Given the description of an element on the screen output the (x, y) to click on. 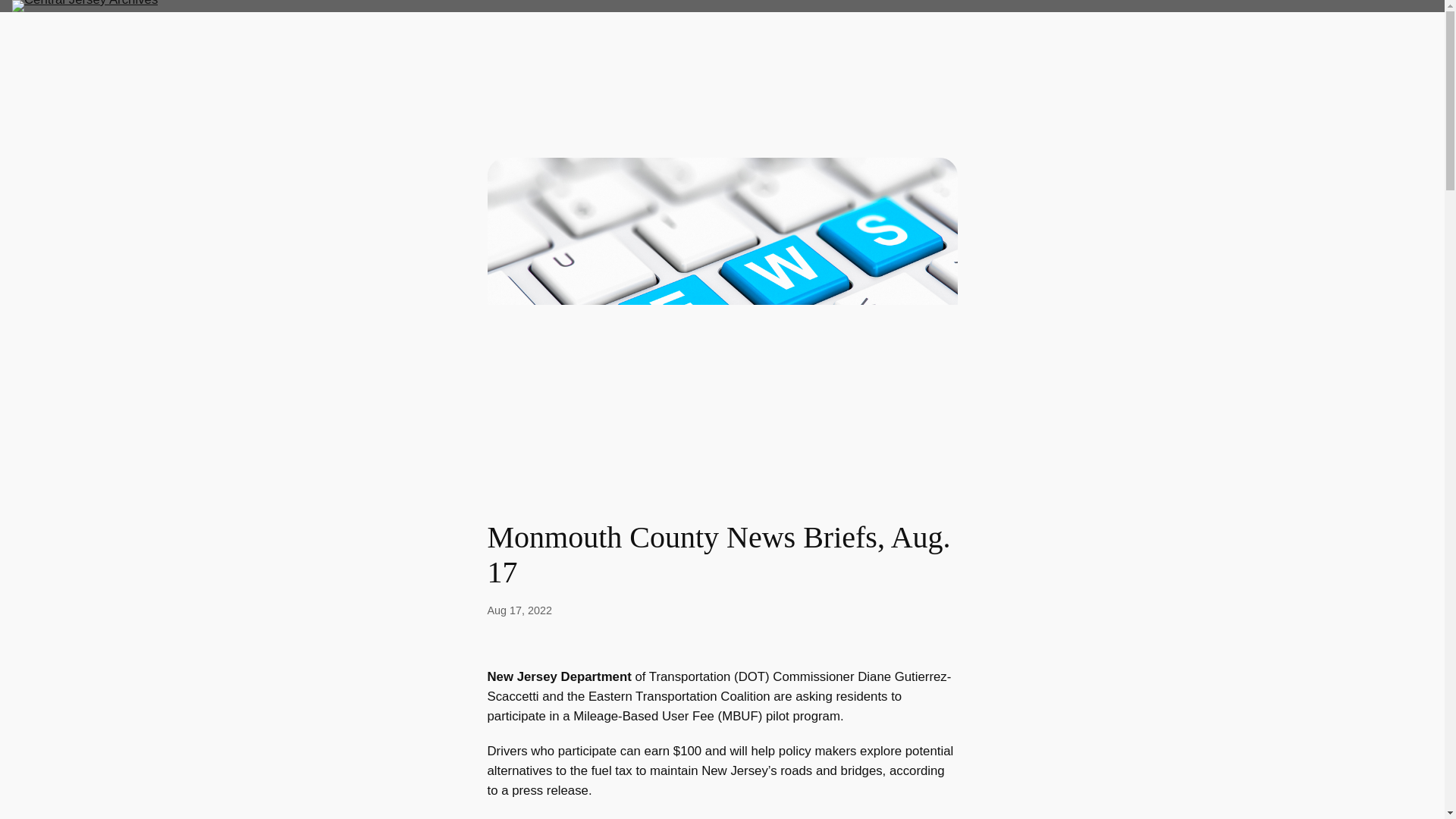
Aug 17, 2022 (518, 610)
